Given the description of an element on the screen output the (x, y) to click on. 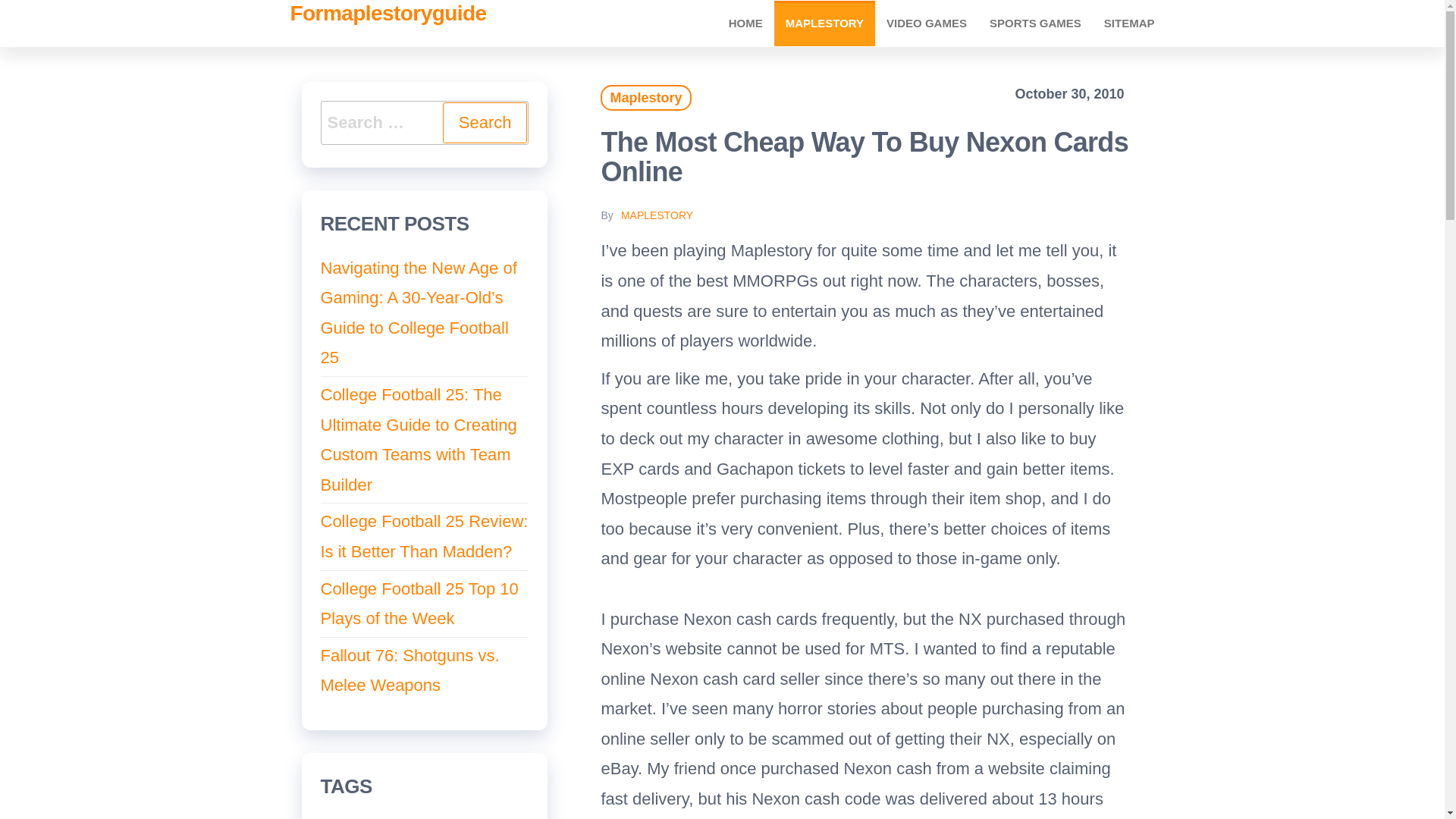
MAPLESTORY (657, 215)
Formaplestoryguide (387, 13)
Maplestory (824, 22)
Search (484, 122)
MAPLESTORY (824, 22)
Search (484, 122)
Home (745, 22)
College Football 25 Review: Is it Better Than Madden? (423, 536)
College Football 25 Top 10 Plays of the Week (419, 603)
